Given the description of an element on the screen output the (x, y) to click on. 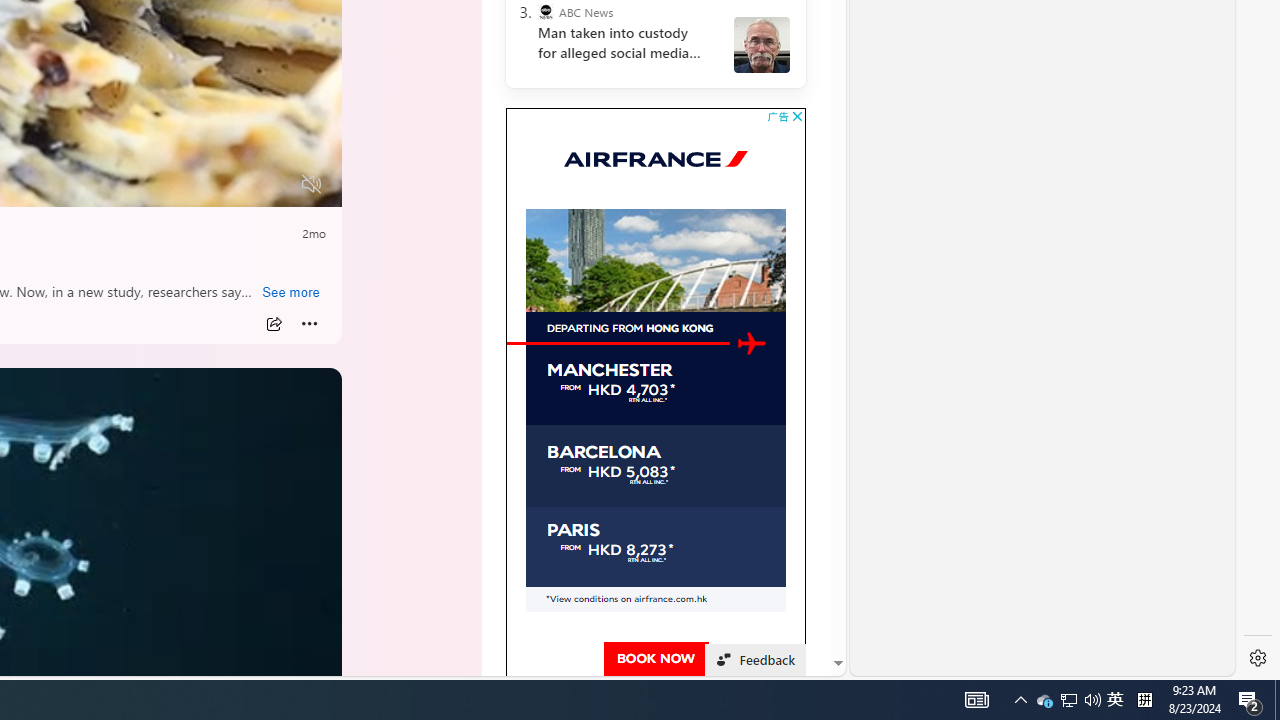
ABC News (545, 12)
Fullscreen (273, 185)
Quality Settings (193, 185)
AutomationID: cbb (797, 115)
Action Center, 2 new notifications (1250, 699)
Show desktop (1115, 699)
Q2790: 100% (1277, 699)
